Given the description of an element on the screen output the (x, y) to click on. 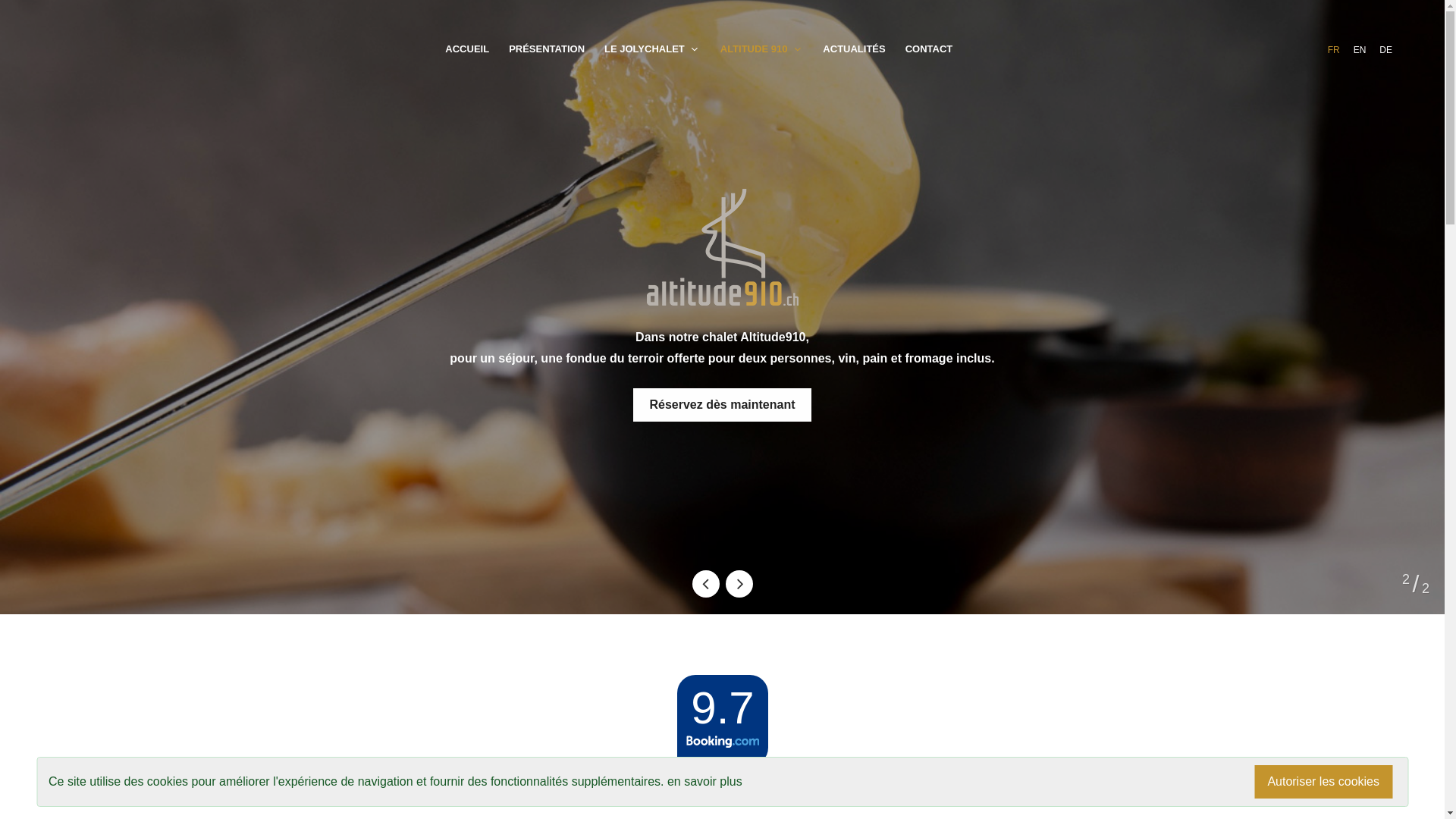
ALTITUDE 910 Element type: text (761, 49)
Autoriser les cookies Element type: text (1323, 781)
FR Element type: text (1333, 49)
en savoir plus Element type: text (704, 781)
CONTACT Element type: text (929, 49)
DE Element type: text (1385, 49)
EN Element type: text (1359, 49)
ACCUEIL Element type: text (467, 49)
LE JOLYCHALET Element type: text (652, 49)
